Given the description of an element on the screen output the (x, y) to click on. 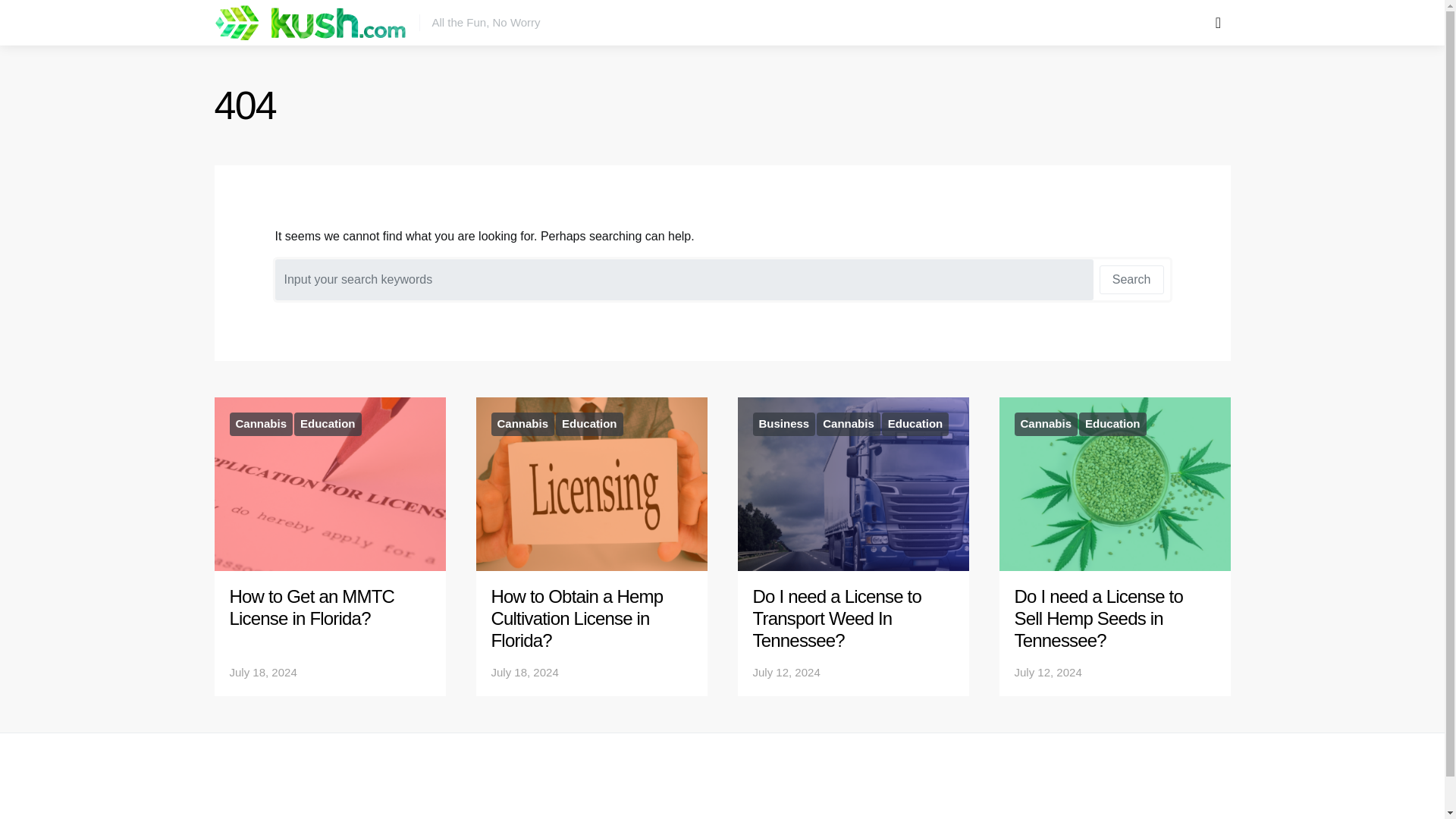
Do I need a License to Sell Hemp Seeds in Tennessee? (1098, 618)
How to Obtain a Hemp Cultivation License in Florida? (577, 618)
Do I need a License to Transport Weed In Tennessee? (836, 618)
How to Get an MMTC License in Florida? (311, 607)
